Given the description of an element on the screen output the (x, y) to click on. 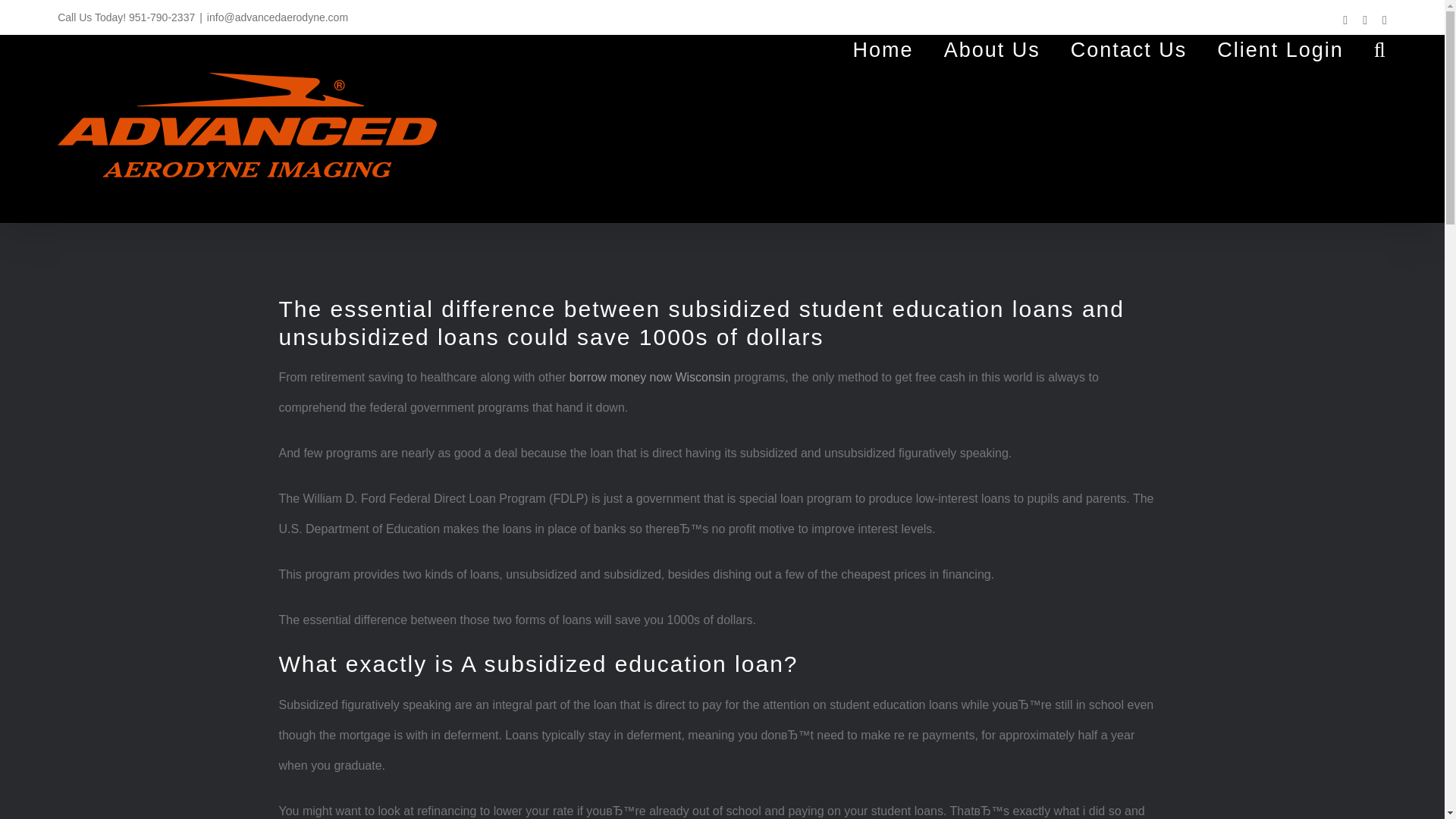
Client Login (1280, 50)
About Us (992, 50)
borrow money now Wisconsin (649, 377)
Contact Us (1129, 50)
Home (883, 50)
